Given the description of an element on the screen output the (x, y) to click on. 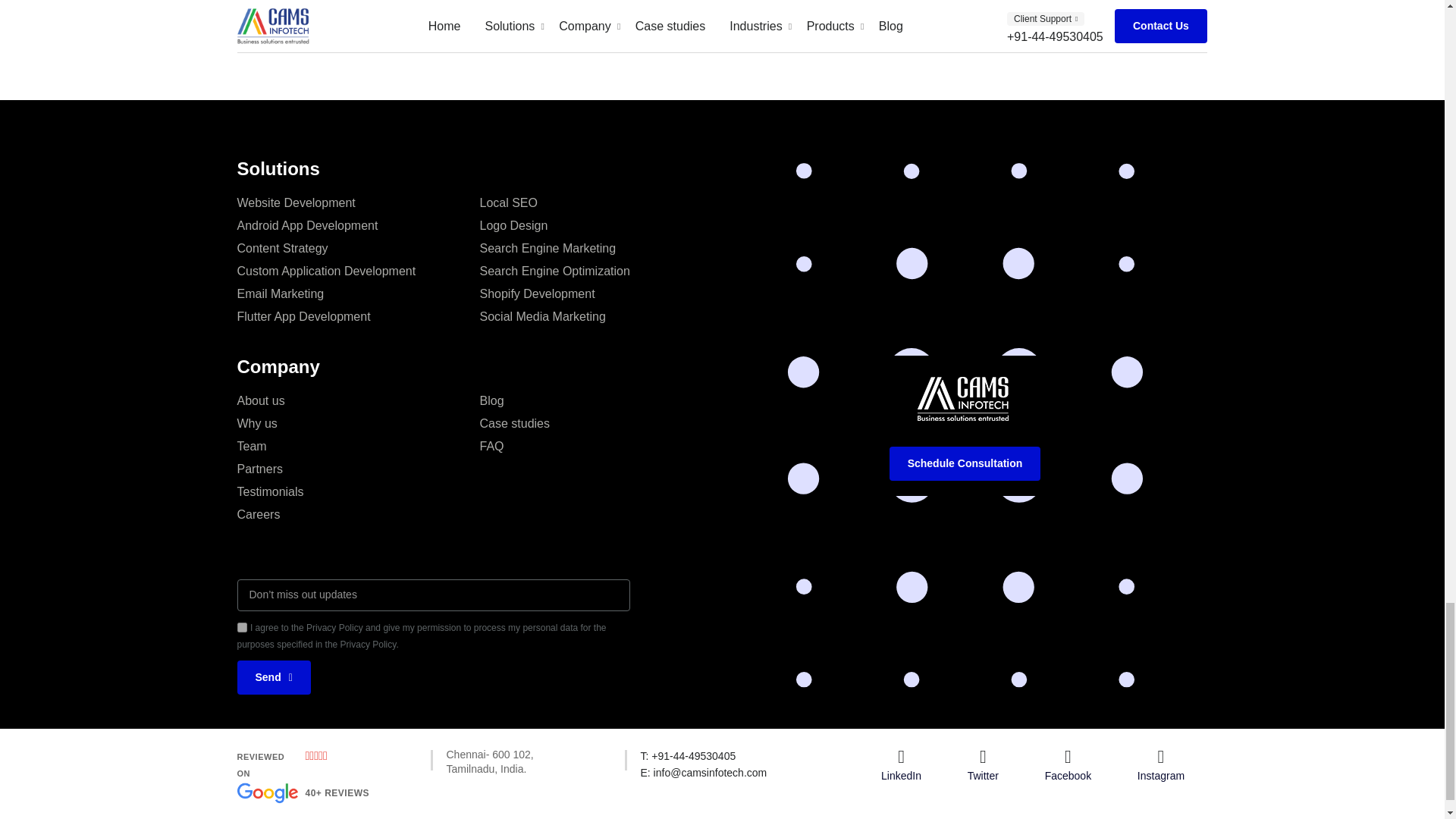
on (357, 457)
